Given the description of an element on the screen output the (x, y) to click on. 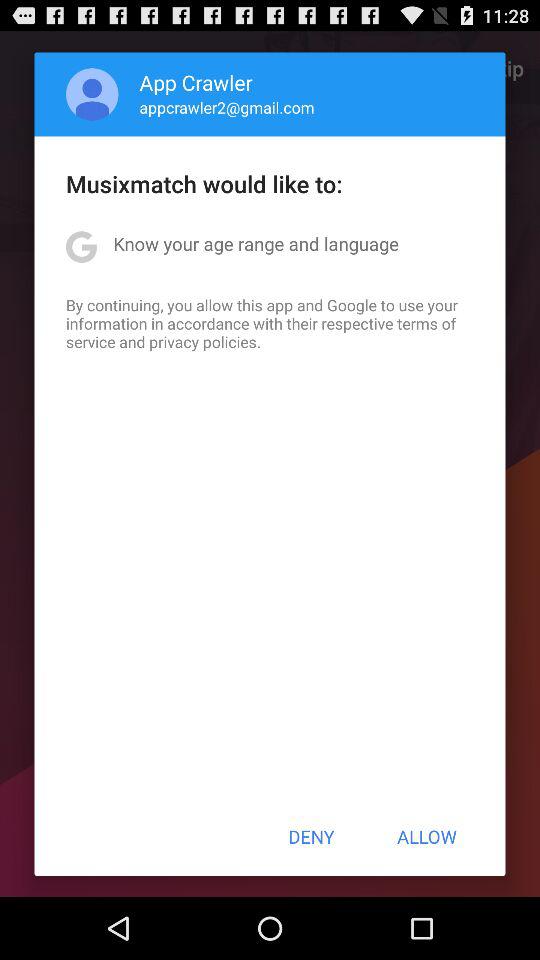
flip to the deny button (311, 836)
